Given the description of an element on the screen output the (x, y) to click on. 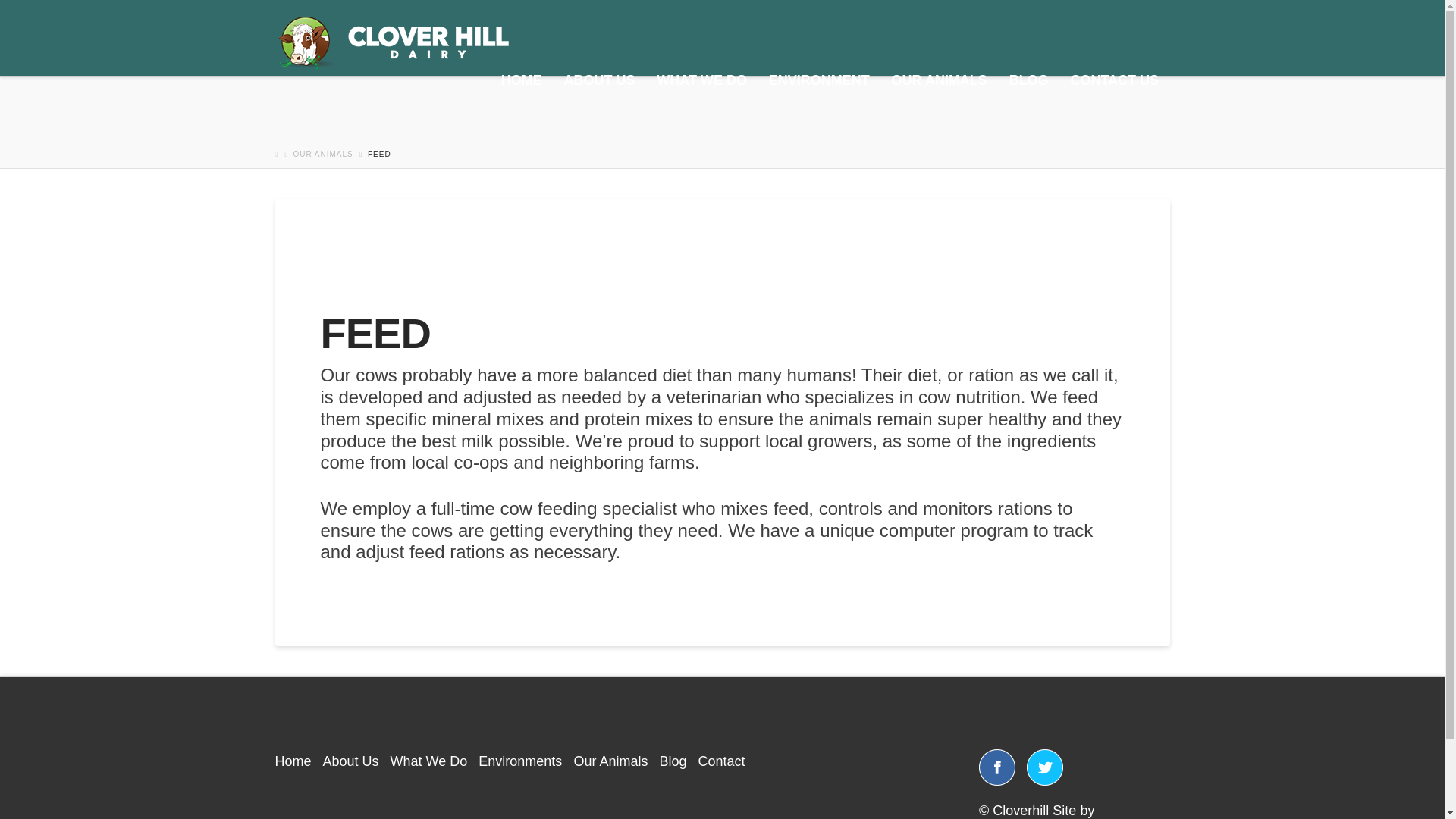
OUR ANIMALS (938, 111)
Home (293, 761)
WHAT WE DO (701, 111)
Contact (720, 761)
CONTACT US (1114, 111)
Blog (672, 761)
What We Do (428, 761)
Our Animals (610, 761)
Dairy farm (393, 42)
Environments (520, 761)
OUR ANIMALS (322, 153)
ABOUT US (599, 111)
About Us (350, 761)
ENVIRONMENT (818, 111)
